Given the description of an element on the screen output the (x, y) to click on. 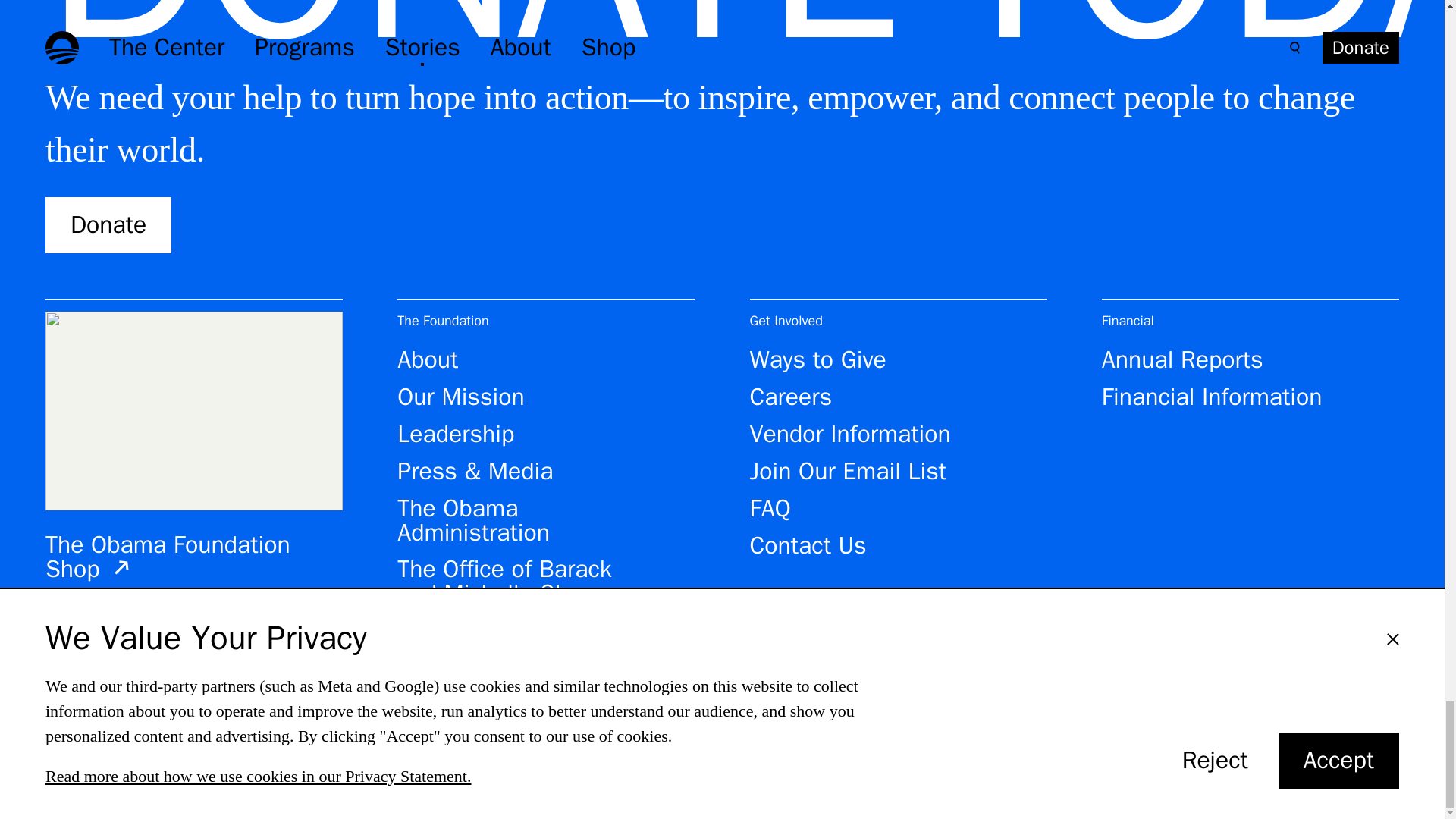
The Obama Administration (518, 520)
Our Mission (474, 396)
Leadership (469, 434)
Ways to Give (831, 360)
About (440, 360)
Donate (108, 225)
Careers (804, 396)
